Given the description of an element on the screen output the (x, y) to click on. 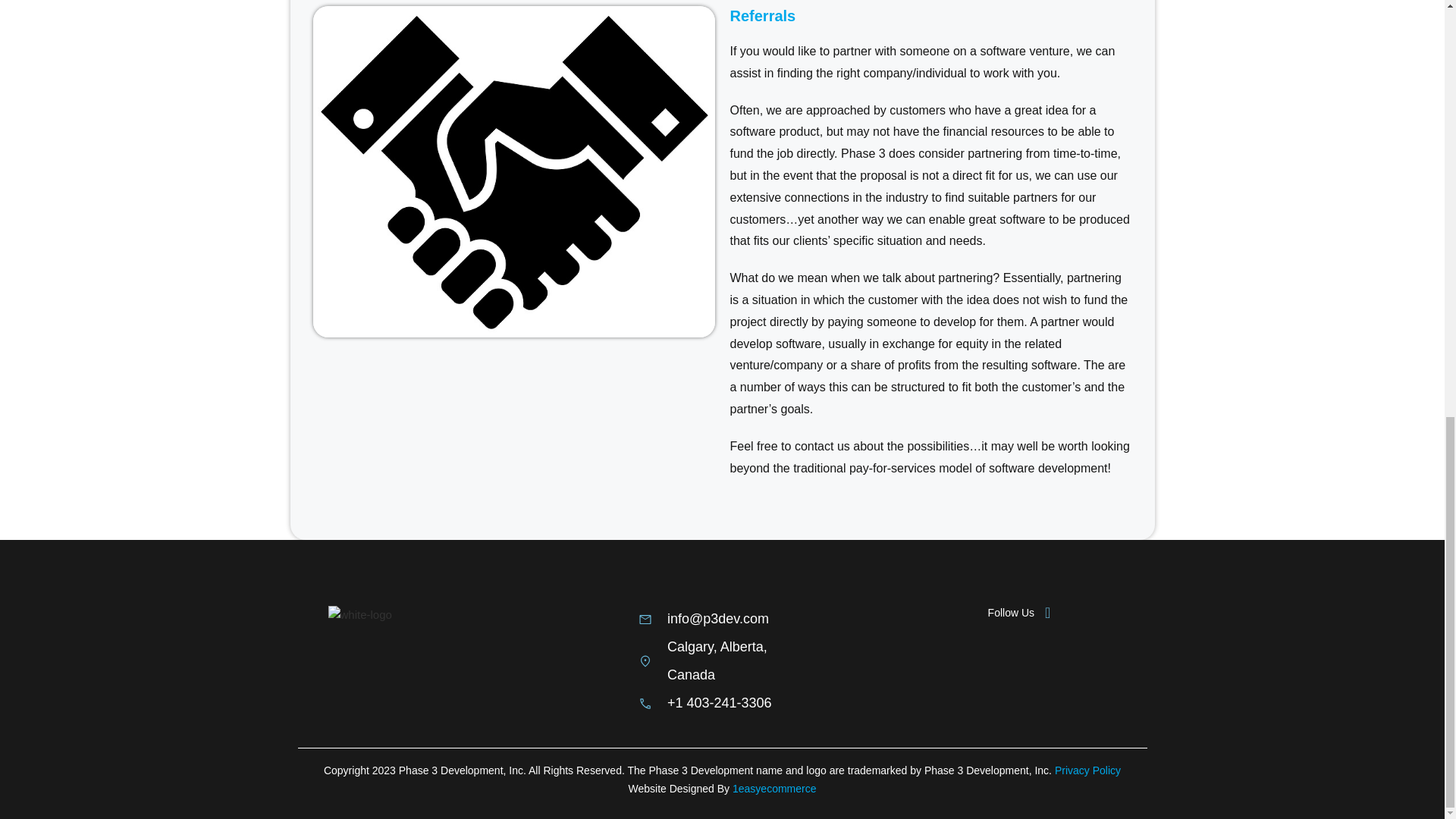
white-logo (359, 615)
Calgary, Alberta, Canada (722, 661)
1easyecommerce (774, 788)
Privacy Policy (1087, 770)
